Given the description of an element on the screen output the (x, y) to click on. 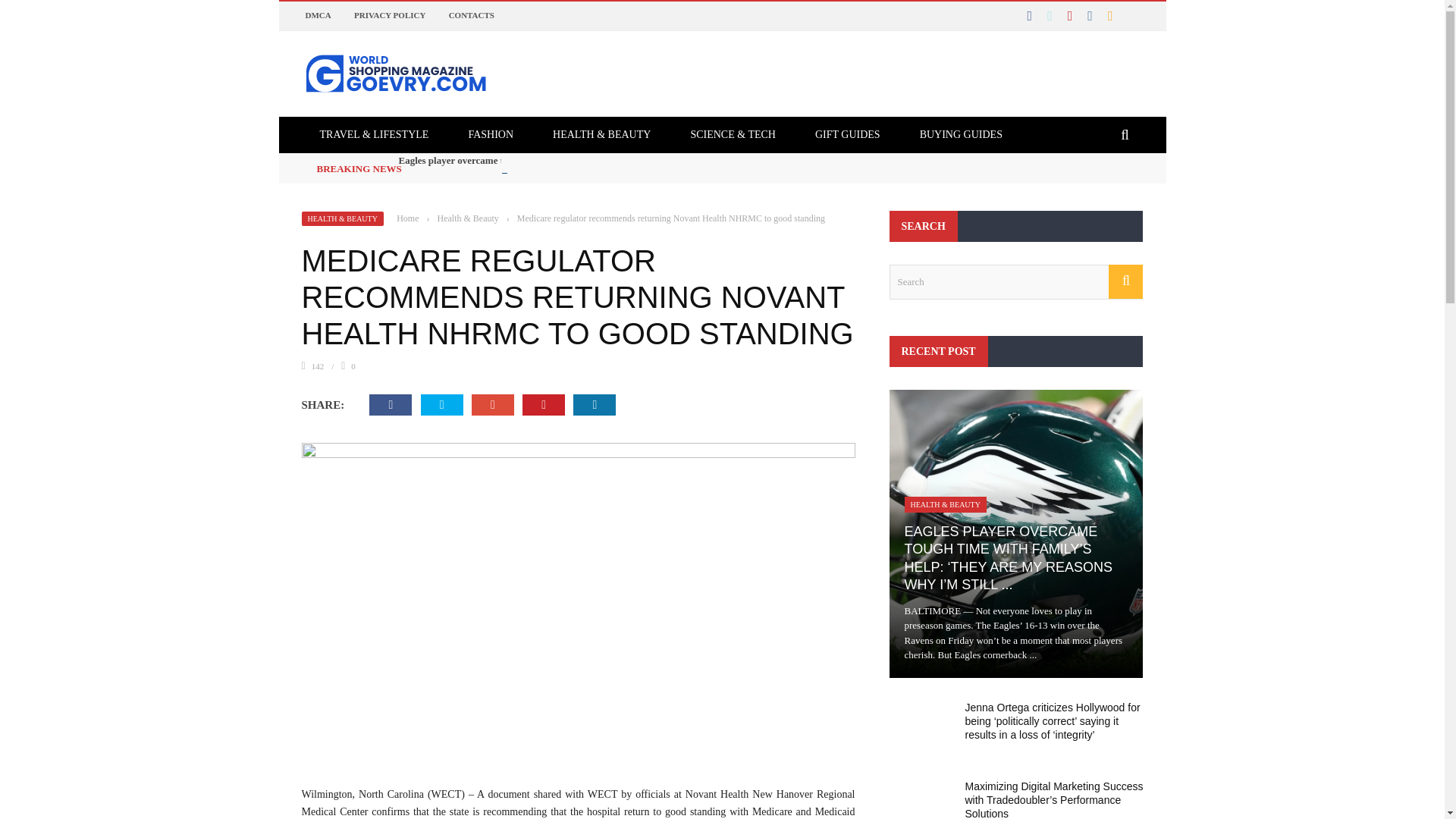
DMCA (317, 14)
Search (1015, 281)
PRIVACY POLICY (389, 14)
CONTACTS (471, 14)
